Given the description of an element on the screen output the (x, y) to click on. 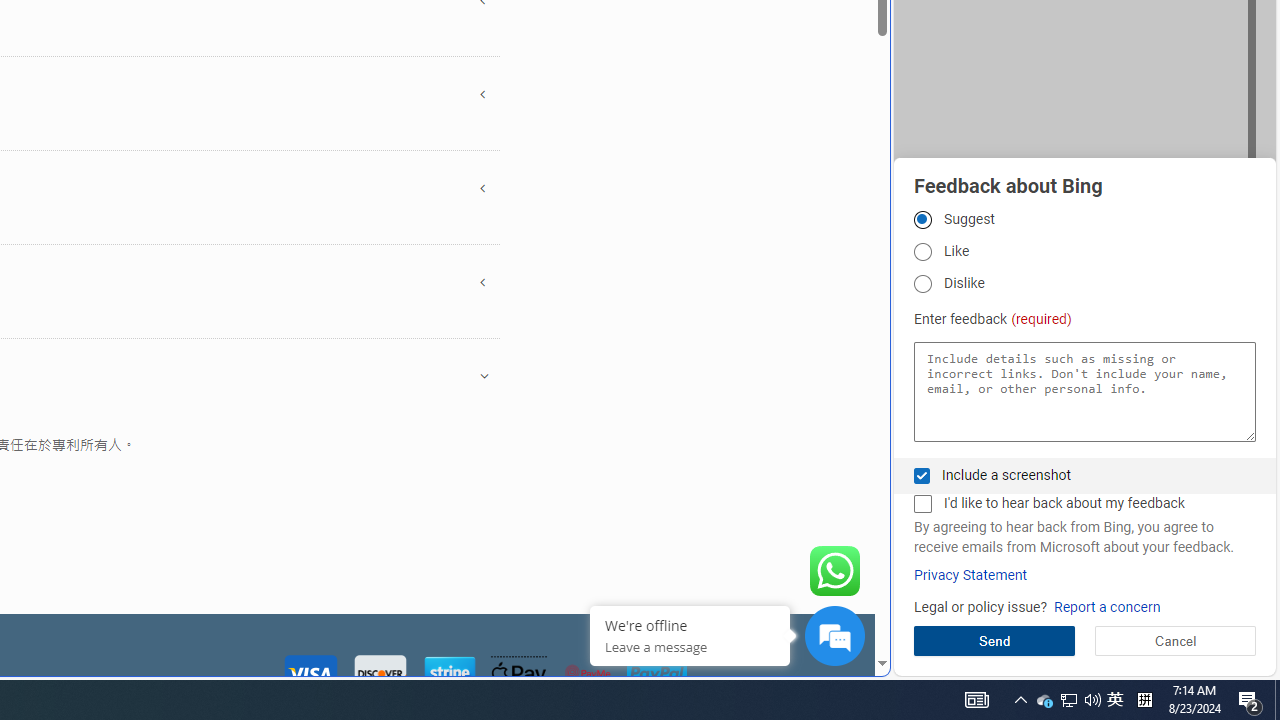
Dislike (922, 284)
Privacy Statement (970, 575)
Like (922, 251)
I'd like to hear back about my feedback (922, 503)
Suggest (922, 219)
MSN (687, 223)
Cancel (1174, 640)
Include a screenshot (921, 475)
google_privacy_policy_zh-CN.pdf (687, 482)
Report a concern (1106, 607)
Send (994, 640)
